Given the description of an element on the screen output the (x, y) to click on. 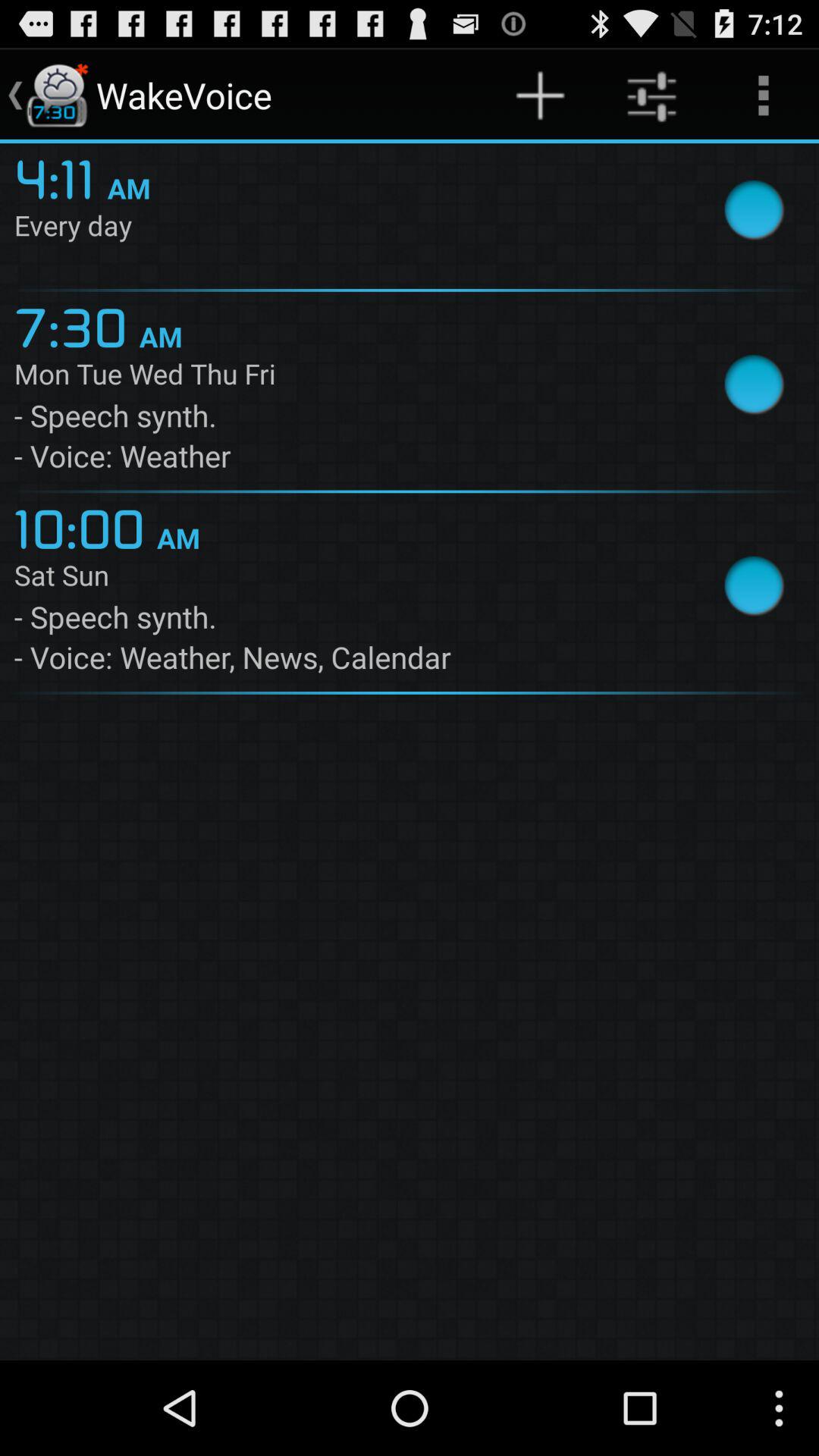
select item above the every day (60, 176)
